Given the description of an element on the screen output the (x, y) to click on. 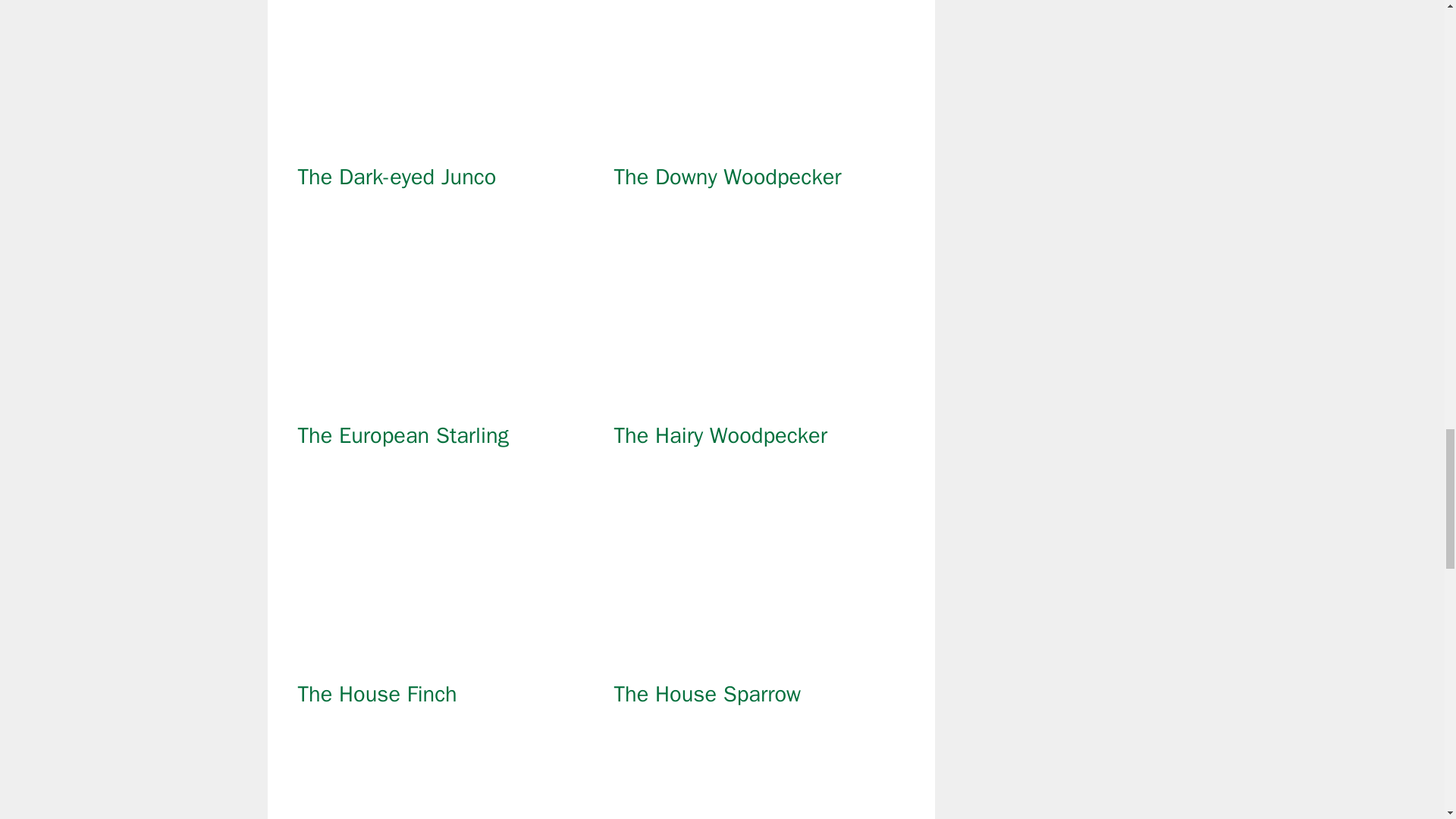
The Dark-eyed Junco (442, 141)
The Downy Woodpecker (759, 141)
The Hairy Woodpecker (759, 400)
The House Sparrow (759, 658)
The House Finch (442, 658)
The European Starling (442, 400)
